Given the description of an element on the screen output the (x, y) to click on. 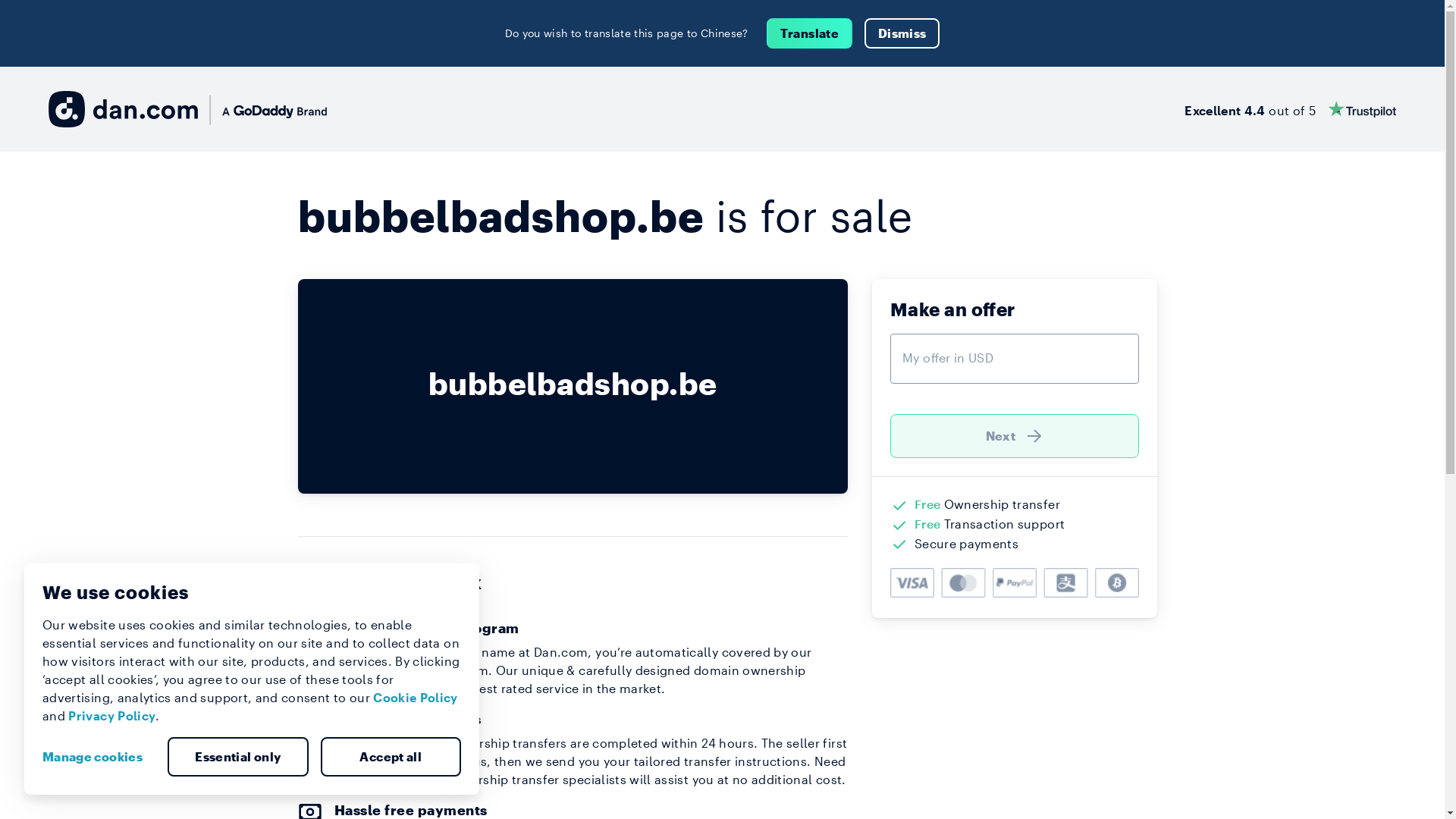
Manage cookies Element type: text (98, 756)
Essential only Element type: text (237, 756)
Privacy Policy Element type: text (111, 715)
Accept all Element type: text (390, 756)
Excellent 4.4 out of 5 Element type: text (1290, 109)
Next
) Element type: text (1014, 436)
Translate Element type: text (809, 33)
Cookie Policy Element type: text (415, 697)
Dismiss Element type: text (901, 33)
